Given the description of an element on the screen output the (x, y) to click on. 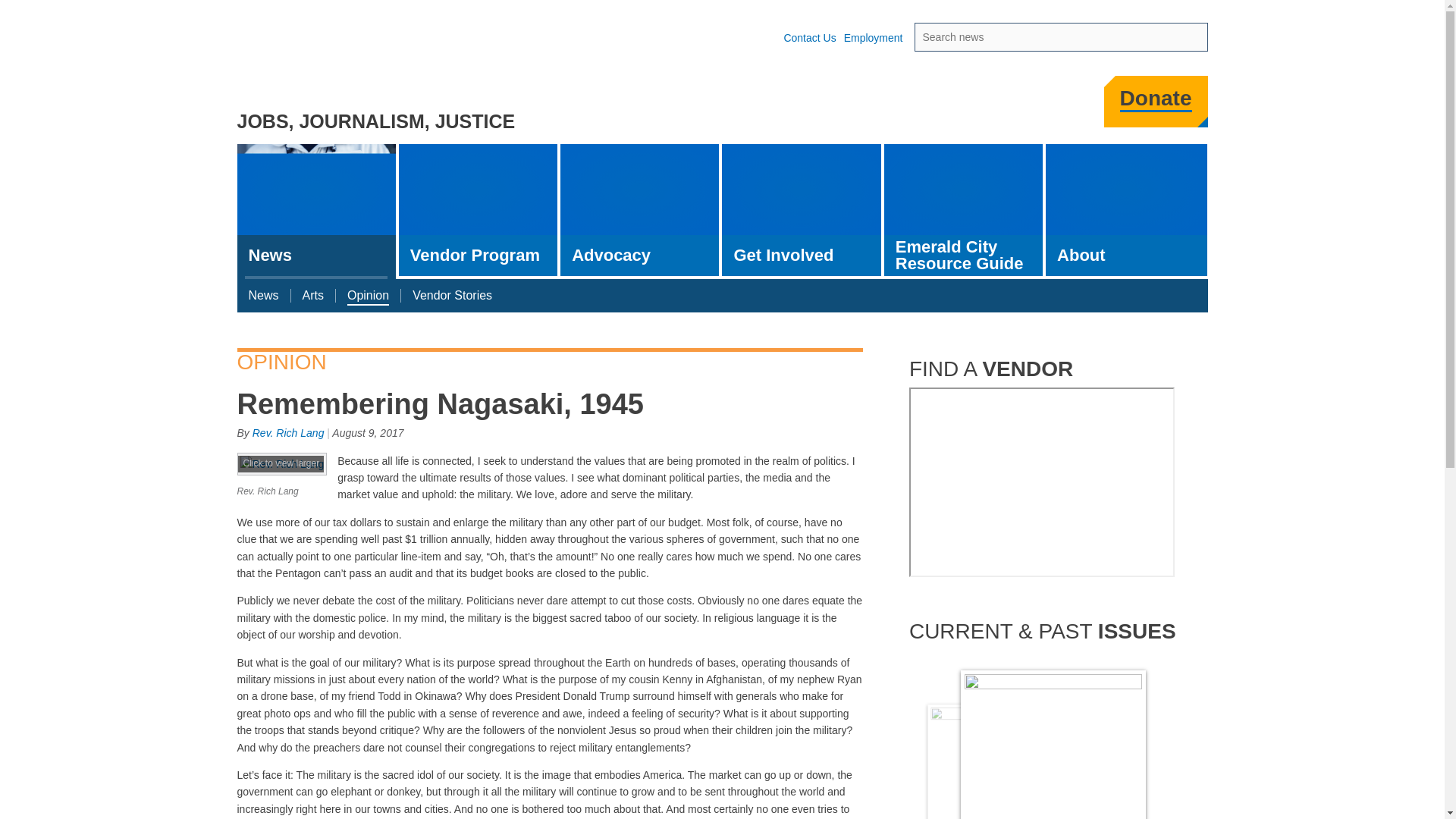
Instagram (950, 105)
About (1126, 210)
View user profile. (287, 432)
Contact Us (809, 37)
Rev. Rich Lang (287, 432)
Donate (1155, 99)
Get Involved (801, 210)
Emerald City Resource Guide (962, 210)
News (314, 211)
Facebook (869, 105)
 Rev. Rich Lang (280, 475)
Vendor Program (477, 210)
Real Change (341, 62)
Employment (873, 37)
News (262, 295)
